Given the description of an element on the screen output the (x, y) to click on. 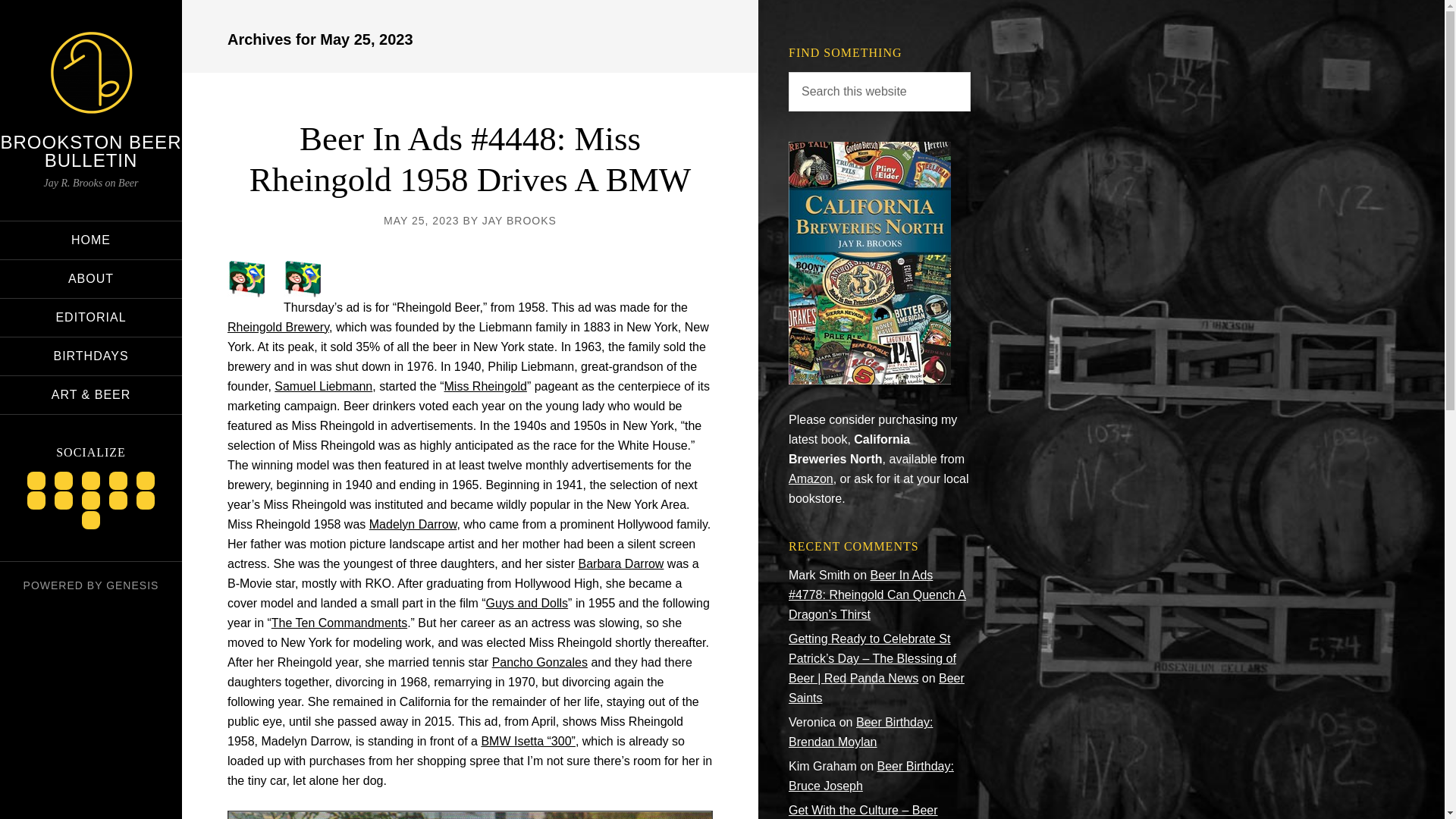
BIRTHDAYS (91, 356)
Miss Rheingold (485, 386)
JAY BROOKS (518, 220)
EDITORIAL (91, 317)
The Ten Commandments (338, 622)
Pancho Gonzales (540, 662)
ABOUT (91, 279)
Madelyn Darrow (413, 523)
GENESIS (132, 585)
